Given the description of an element on the screen output the (x, y) to click on. 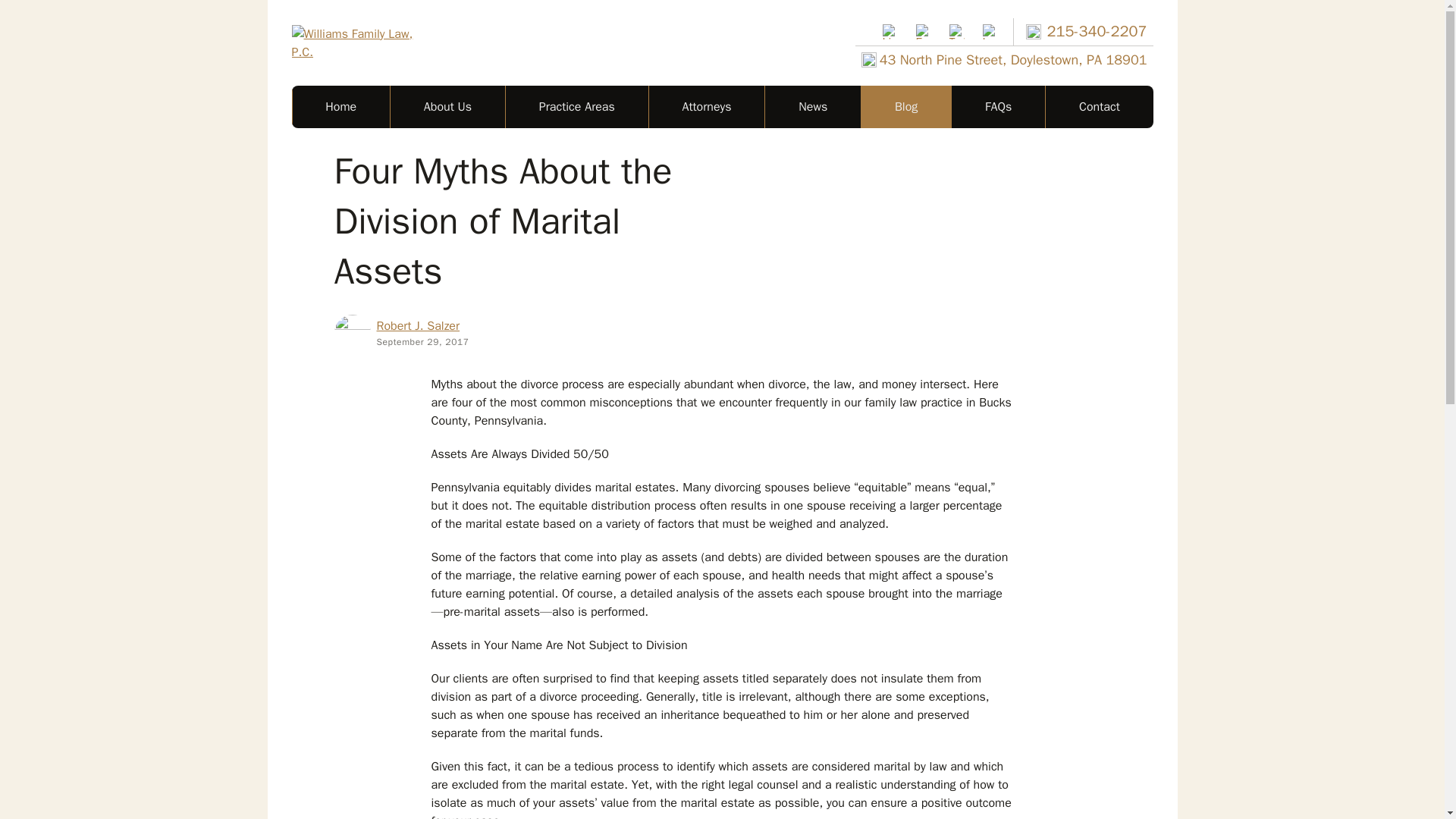
FAQs (997, 106)
Robert J. Salzer (417, 325)
News (812, 106)
Attorneys (706, 106)
215-340-2207 (1086, 31)
Home (340, 106)
Practice Areas (576, 106)
Contact (1099, 106)
43 North Pine Street, Doylestown, PA 18901 (1004, 59)
Blog (905, 106)
